Given the description of an element on the screen output the (x, y) to click on. 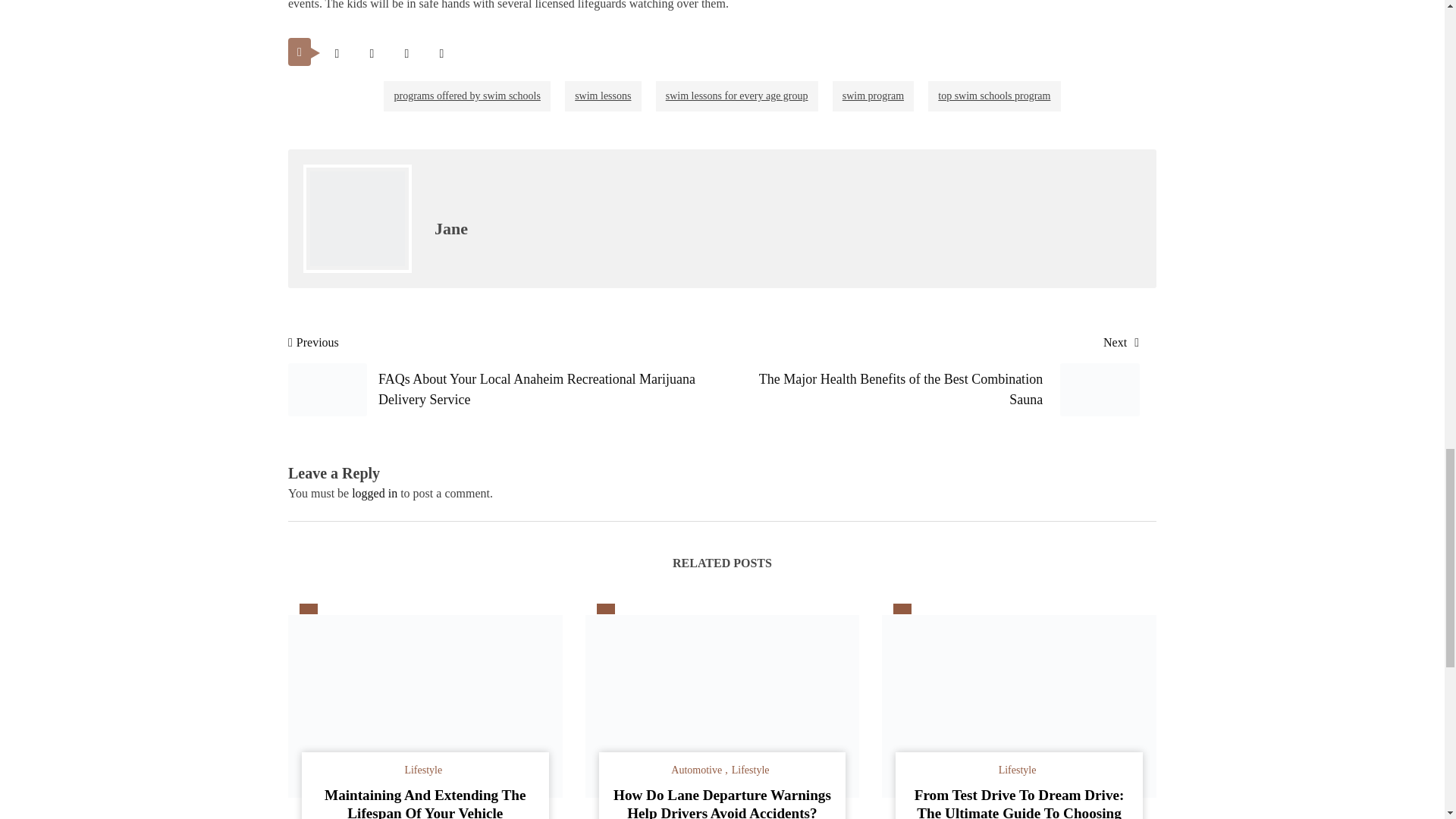
Share on Linkedin (441, 53)
Tweet This! (336, 53)
Share on Pinterest (406, 53)
Share on Facebook (371, 53)
